Given the description of an element on the screen output the (x, y) to click on. 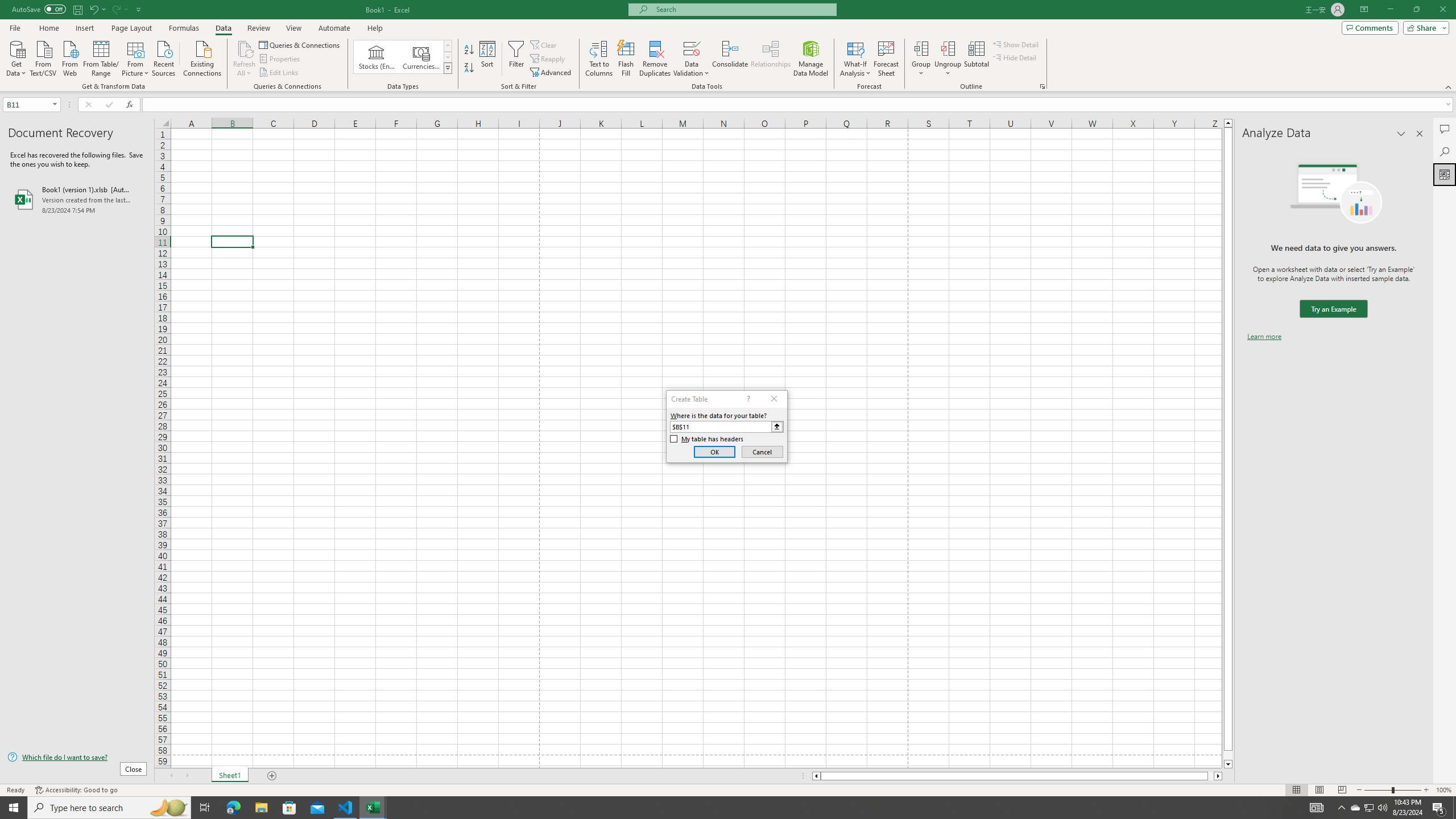
From Picture (135, 57)
From Text/CSV (43, 57)
Analyze Data (1444, 173)
Subtotal (976, 58)
AutomationID: ConvertToLinkedEntity (403, 56)
Group and Outline Settings (1042, 85)
Data Validation... (691, 58)
Manage Data Model (810, 58)
Get Data (16, 57)
